Given the description of an element on the screen output the (x, y) to click on. 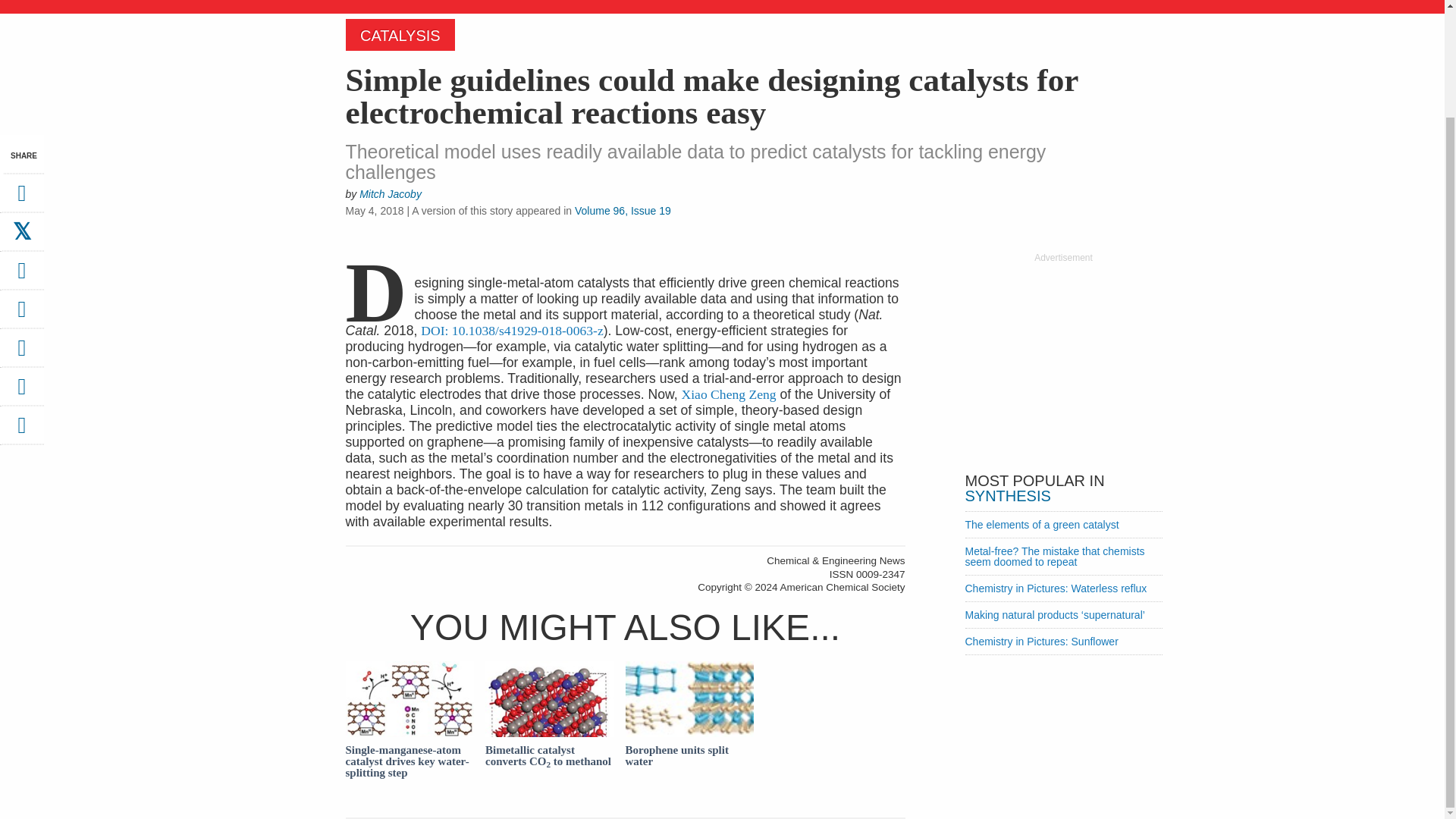
3rd party ad content (1062, 359)
Xiao Cheng Zeng, U. Nebraska (728, 394)
TOPICS (573, 4)
WeChat (21, 352)
